Given the description of an element on the screen output the (x, y) to click on. 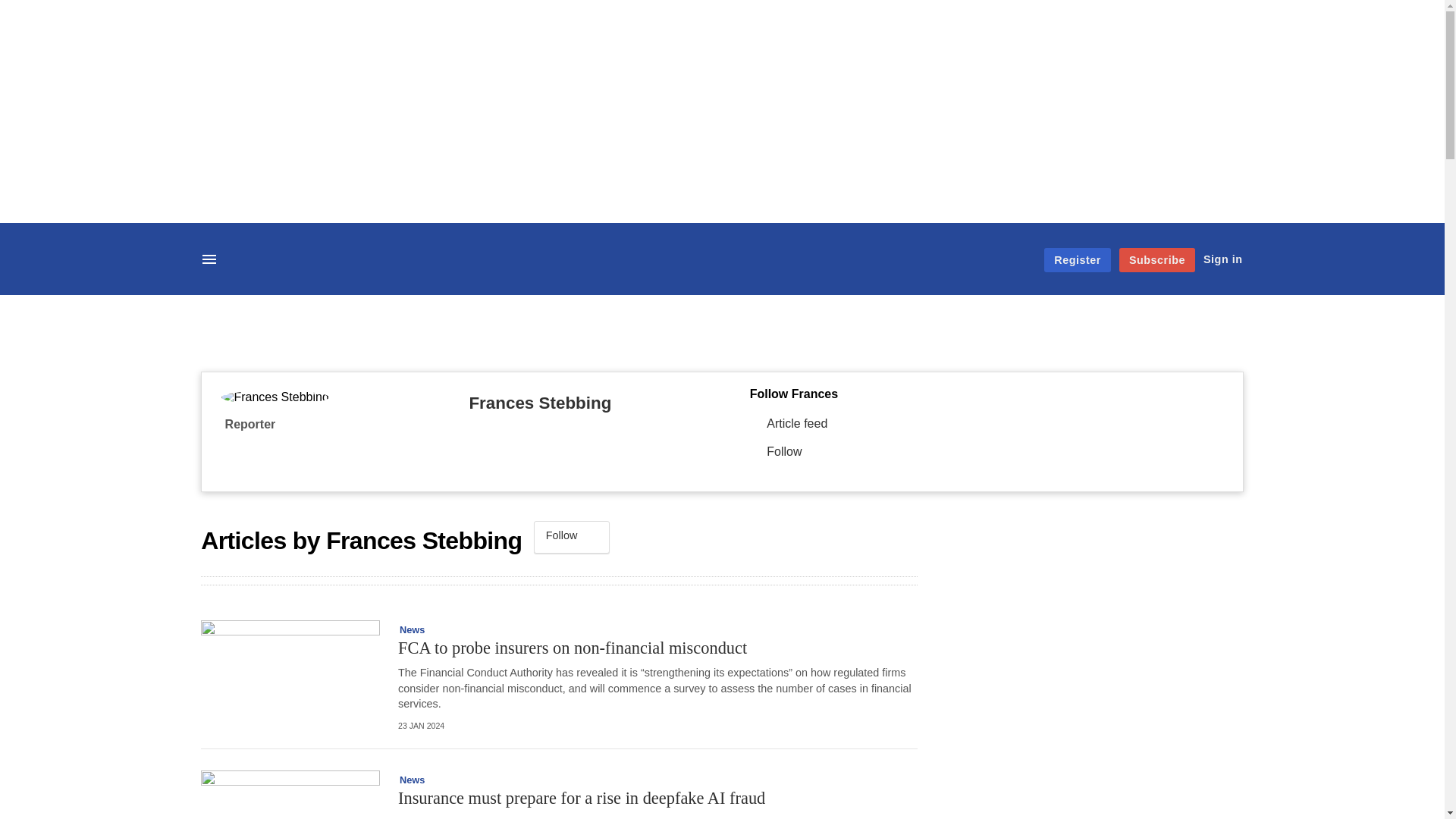
Open side navigation menu (210, 260)
Return to homepage (722, 271)
Open search popup (251, 258)
